Given the description of an element on the screen output the (x, y) to click on. 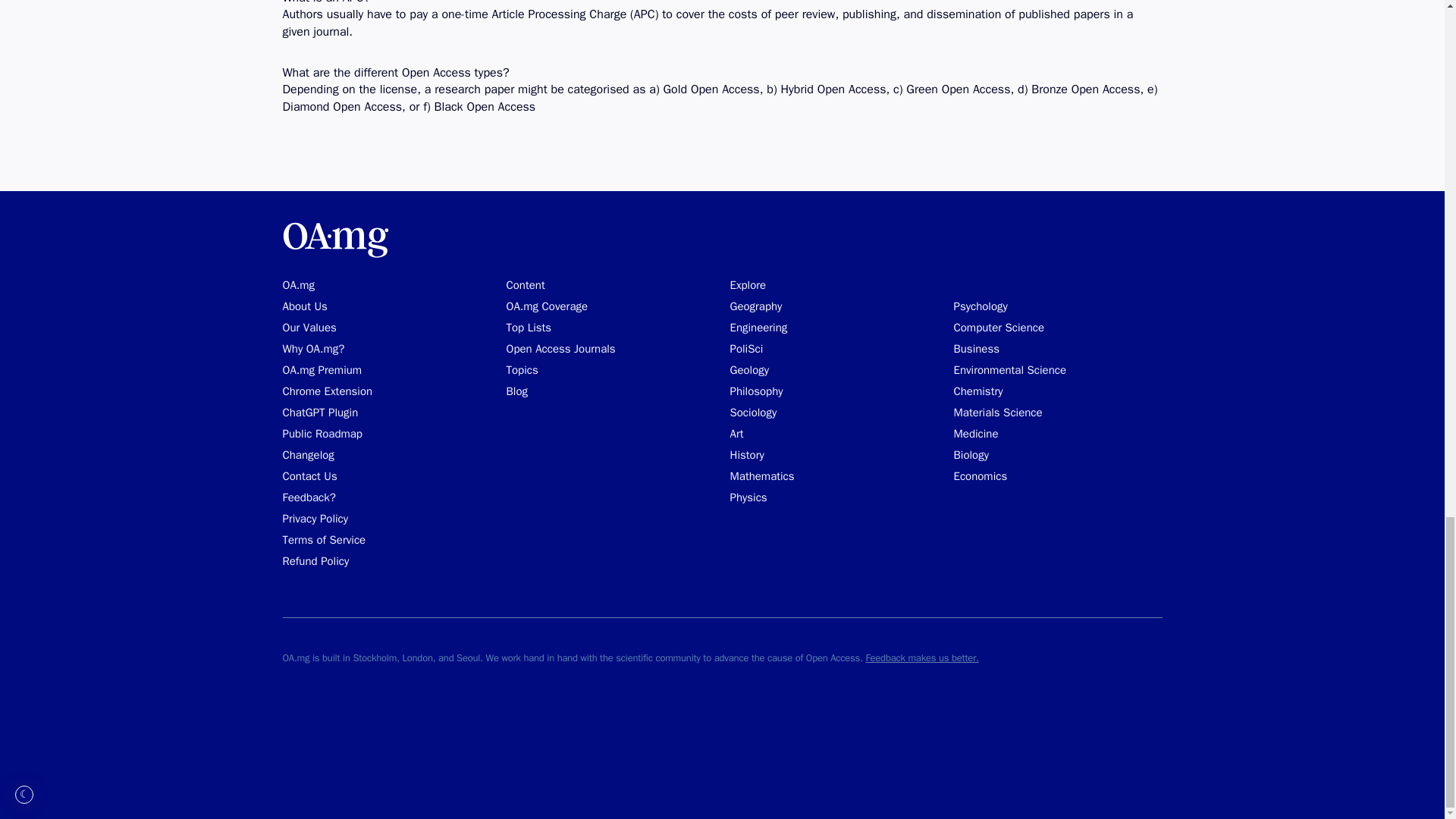
Our Values (309, 327)
Chrome Extension (327, 391)
OA.mg Premium (321, 369)
Why OA.mg? (312, 348)
About Us (304, 305)
ChatGPT Plugin (320, 412)
